Given the description of an element on the screen output the (x, y) to click on. 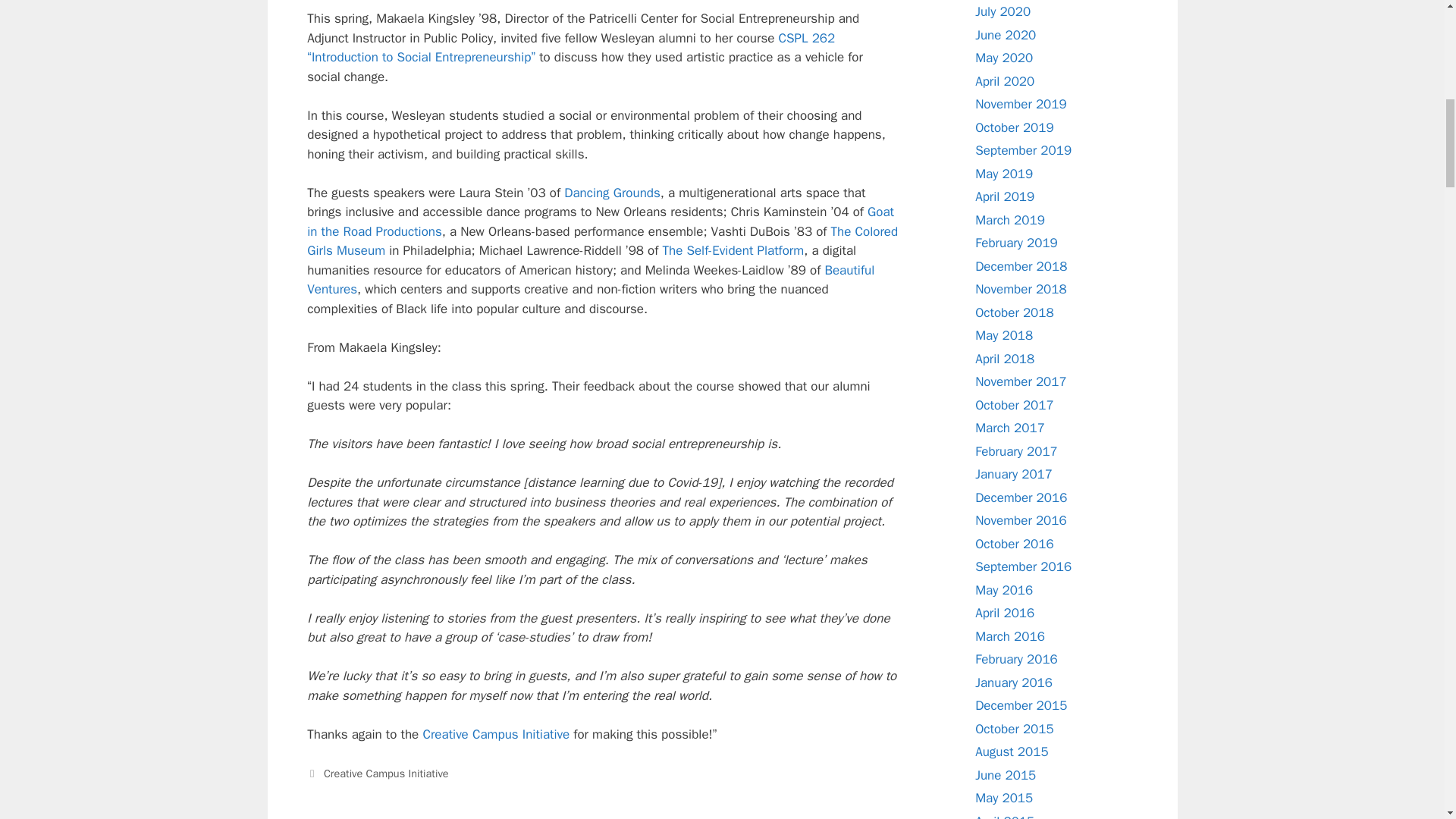
Creative Campus Initiative (385, 773)
Beautiful Ventures (591, 280)
Creative Campus Initiative (495, 734)
The Self-Evident Platform (732, 250)
Dancing Grounds (612, 192)
The Colored Girls Museum (602, 241)
Scroll back to top (1406, 720)
Goat in the Road Productions (600, 221)
